Given the description of an element on the screen output the (x, y) to click on. 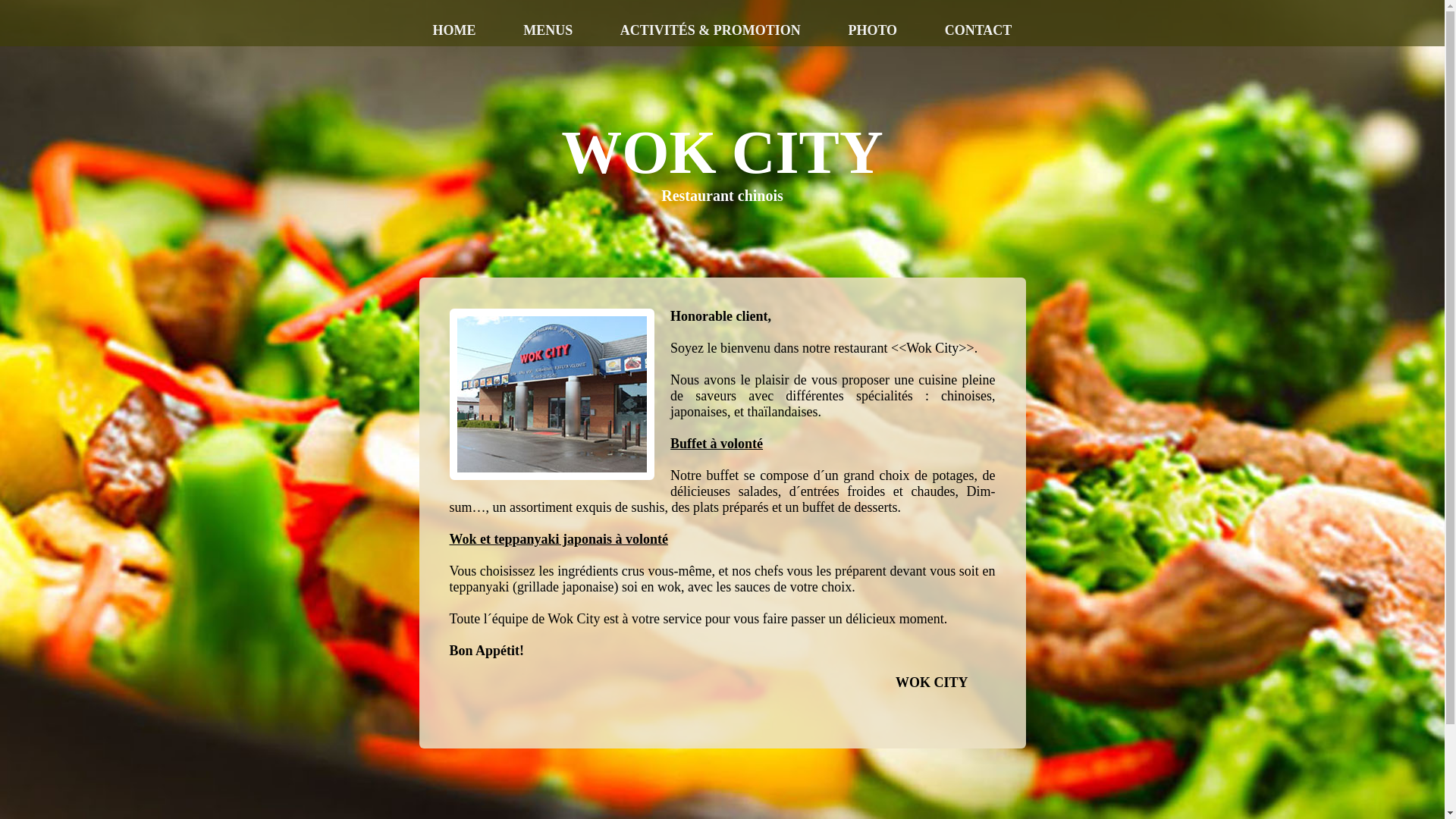
MENUS Element type: text (547, 23)
PHOTO Element type: text (872, 23)
HOME Element type: text (454, 23)
CONTACT Element type: text (978, 23)
